Given the description of an element on the screen output the (x, y) to click on. 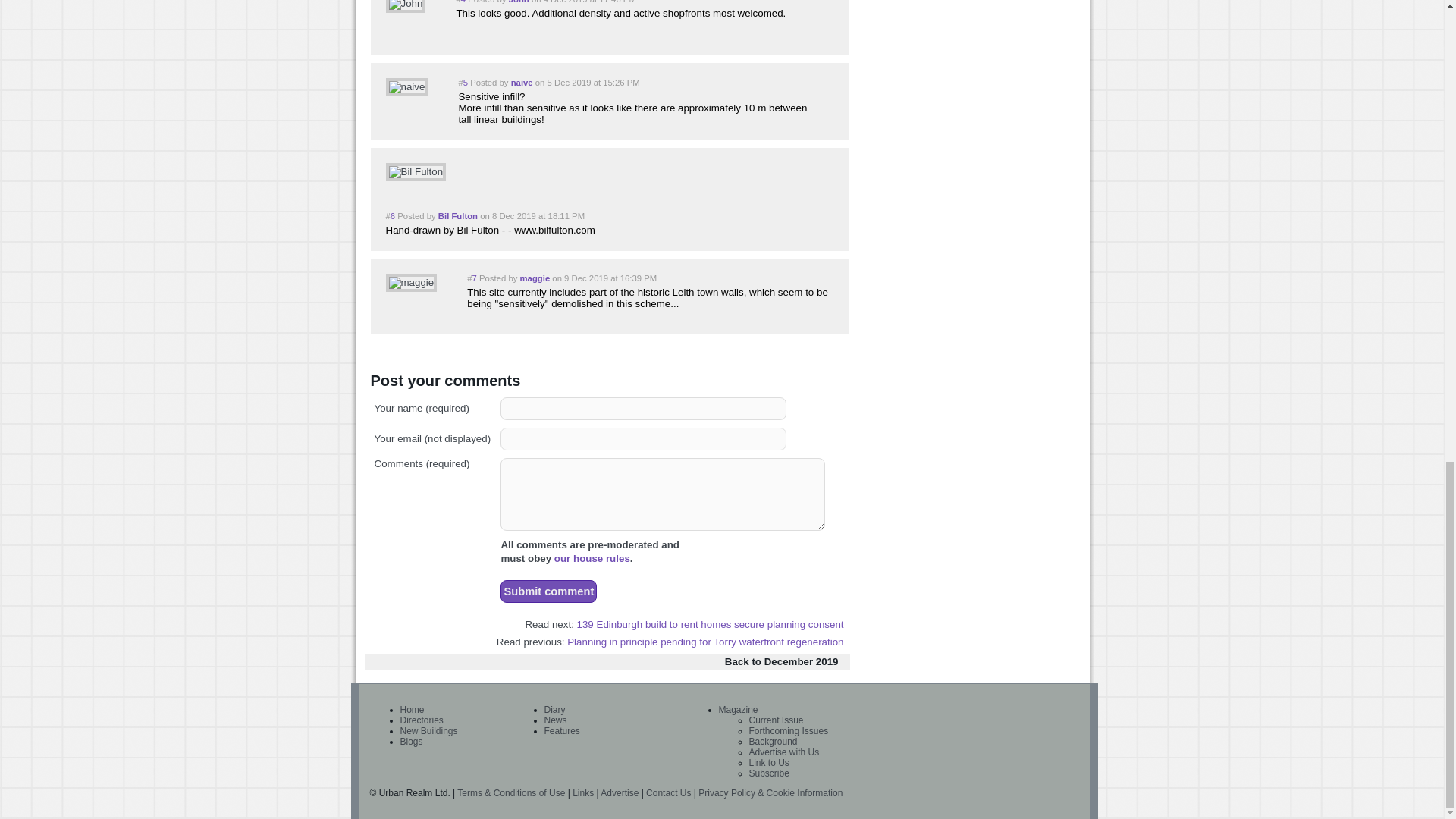
maggie  (410, 282)
Submit comment (548, 590)
John (405, 6)
Bil Fulton (415, 171)
naive (406, 86)
